Given the description of an element on the screen output the (x, y) to click on. 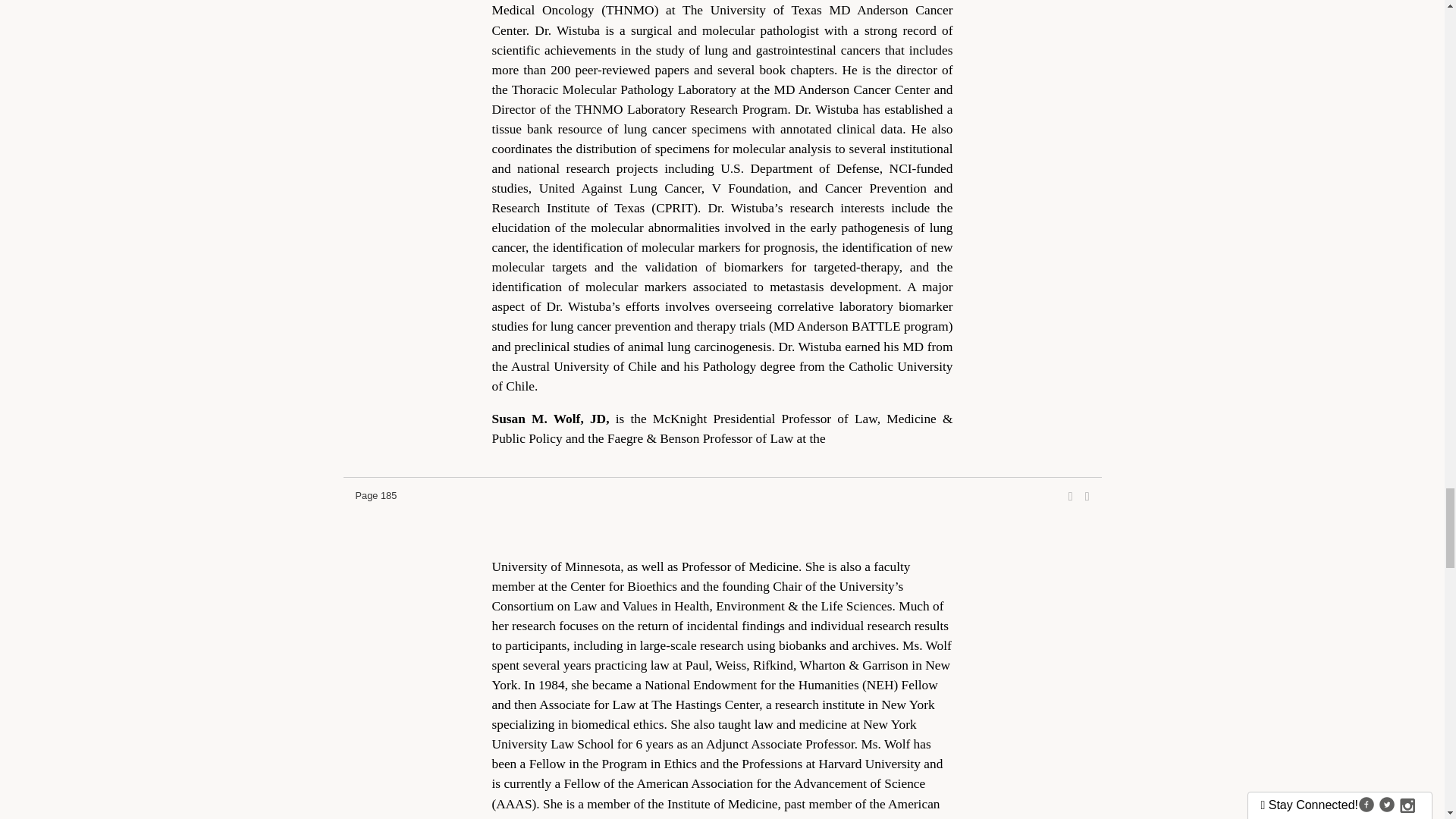
Share this page (1070, 496)
Cite this page (1086, 496)
